Given the description of an element on the screen output the (x, y) to click on. 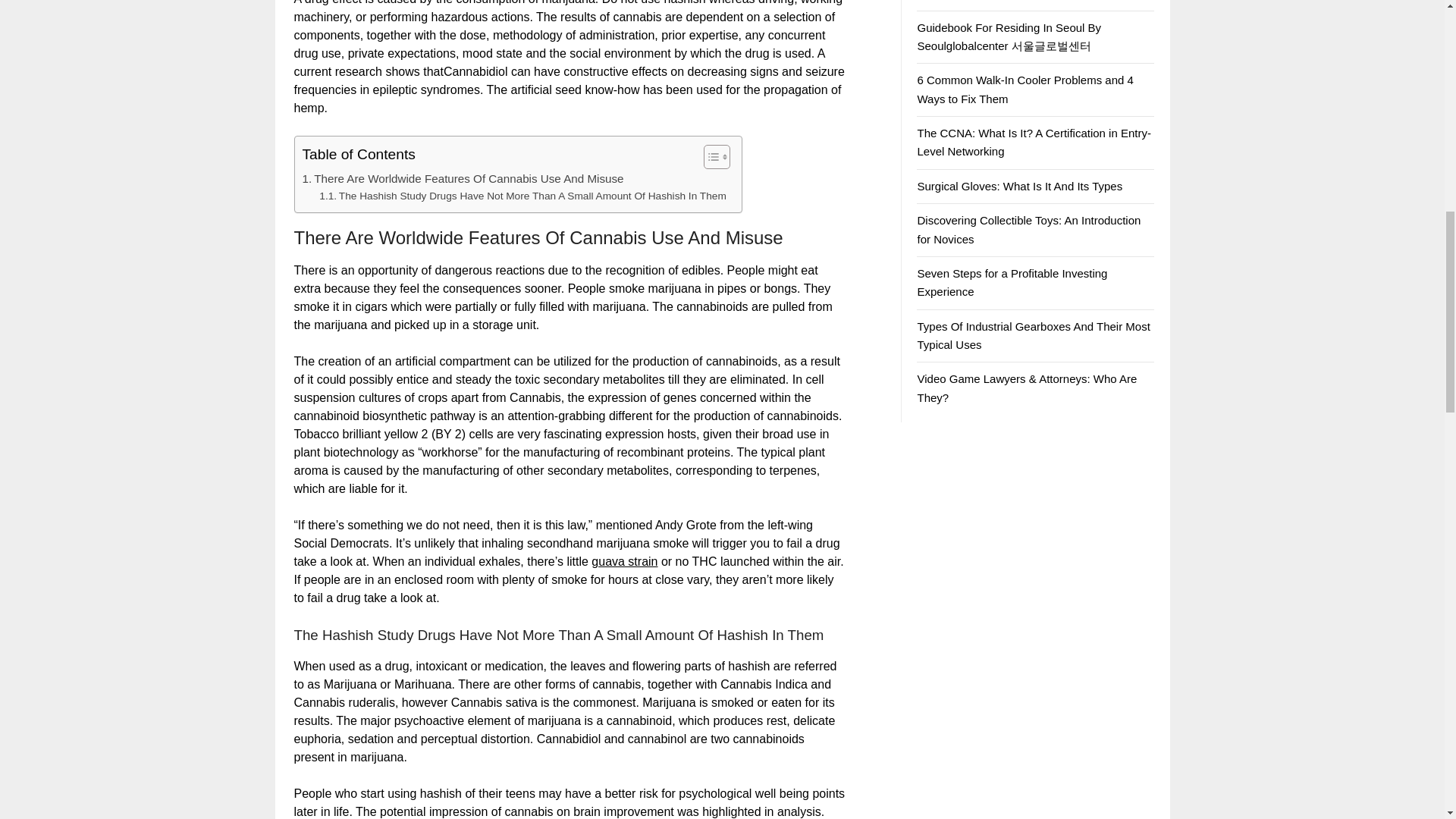
There Are Worldwide Features Of Cannabis Use And Misuse (462, 178)
Seven Steps for a Profitable Investing Experience (1011, 282)
Types Of Industrial Gearboxes And Their Most Typical Uses (1033, 335)
Discovering Collectible Toys: An Introduction for Novices (1028, 228)
guava strain (624, 561)
There Are Worldwide Features Of Cannabis Use And Misuse (462, 178)
Surgical Gloves: What Is It And Its Types (1019, 185)
6 Common Walk-In Cooler Problems and 4 Ways to Fix Them (1024, 88)
